Given the description of an element on the screen output the (x, y) to click on. 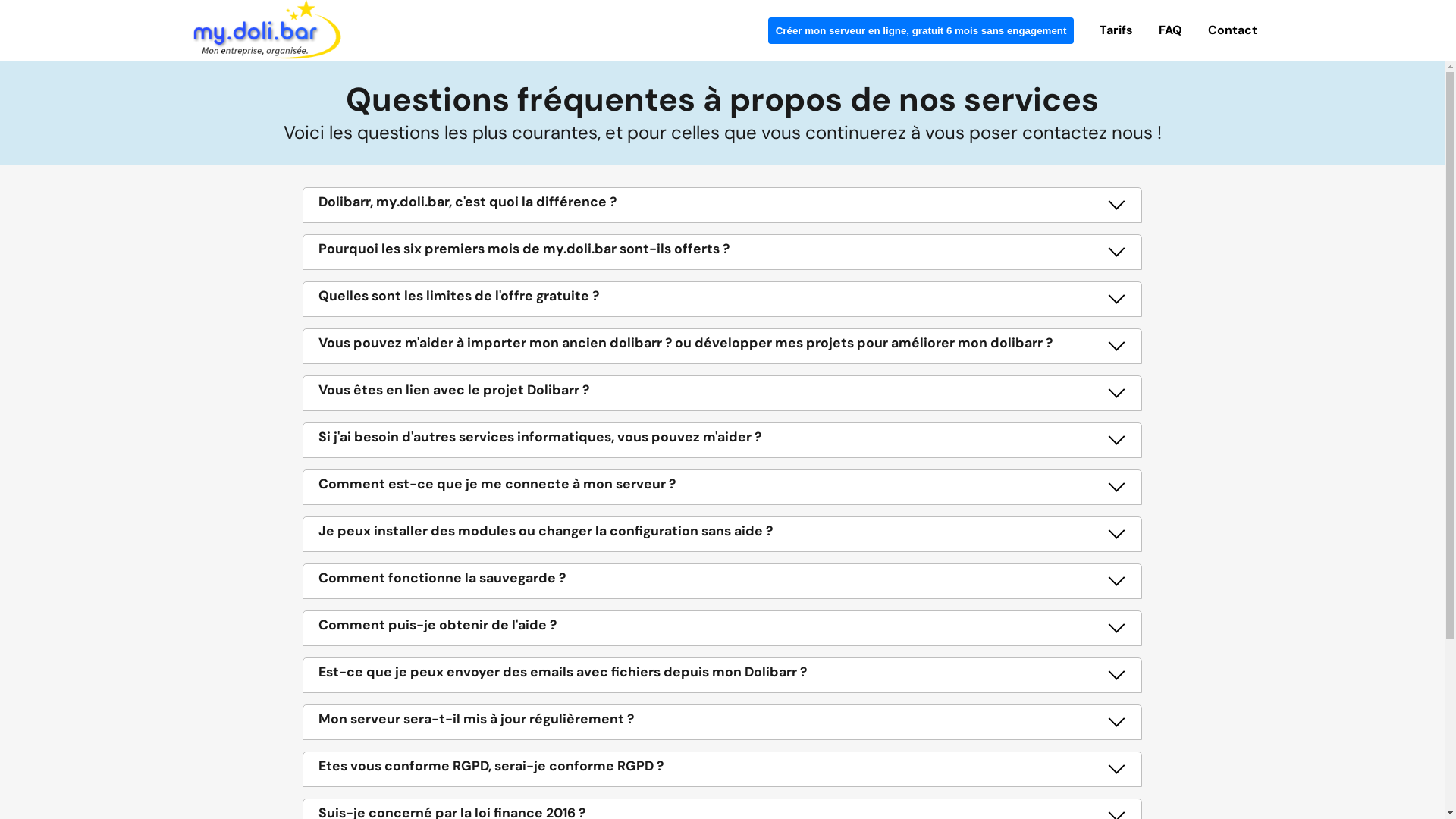
Contact Element type: text (1232, 30)
FAQ Element type: text (1170, 29)
Tarifs Element type: text (1115, 29)
